Given the description of an element on the screen output the (x, y) to click on. 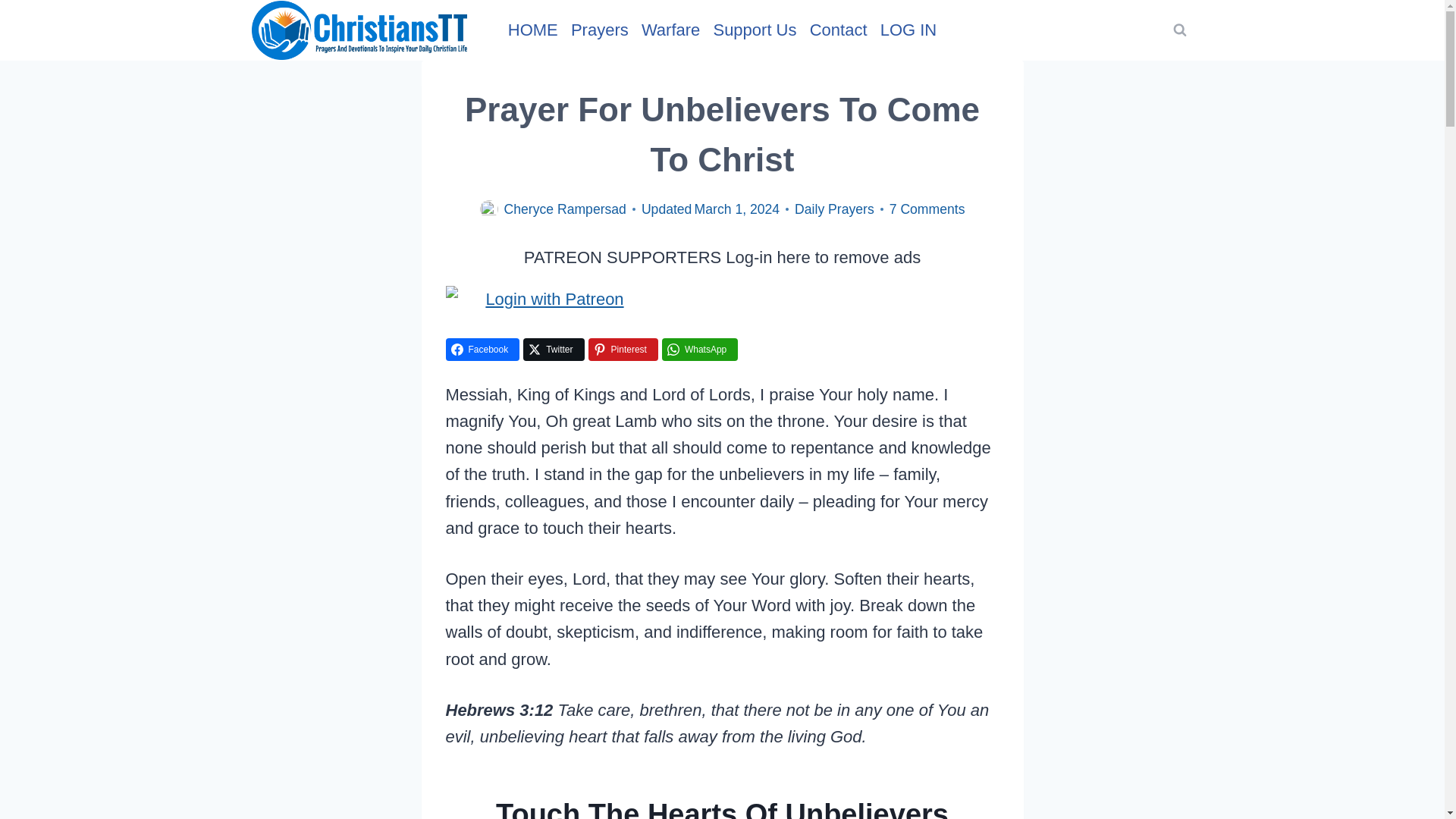
Support Us (754, 29)
Twitter (552, 349)
Facebook (482, 349)
Share on WhatsApp (700, 349)
Contact (838, 29)
Prayers (599, 29)
7 Comments (927, 209)
Warfare (670, 29)
Share on Facebook (482, 349)
LOG IN (908, 29)
